Given the description of an element on the screen output the (x, y) to click on. 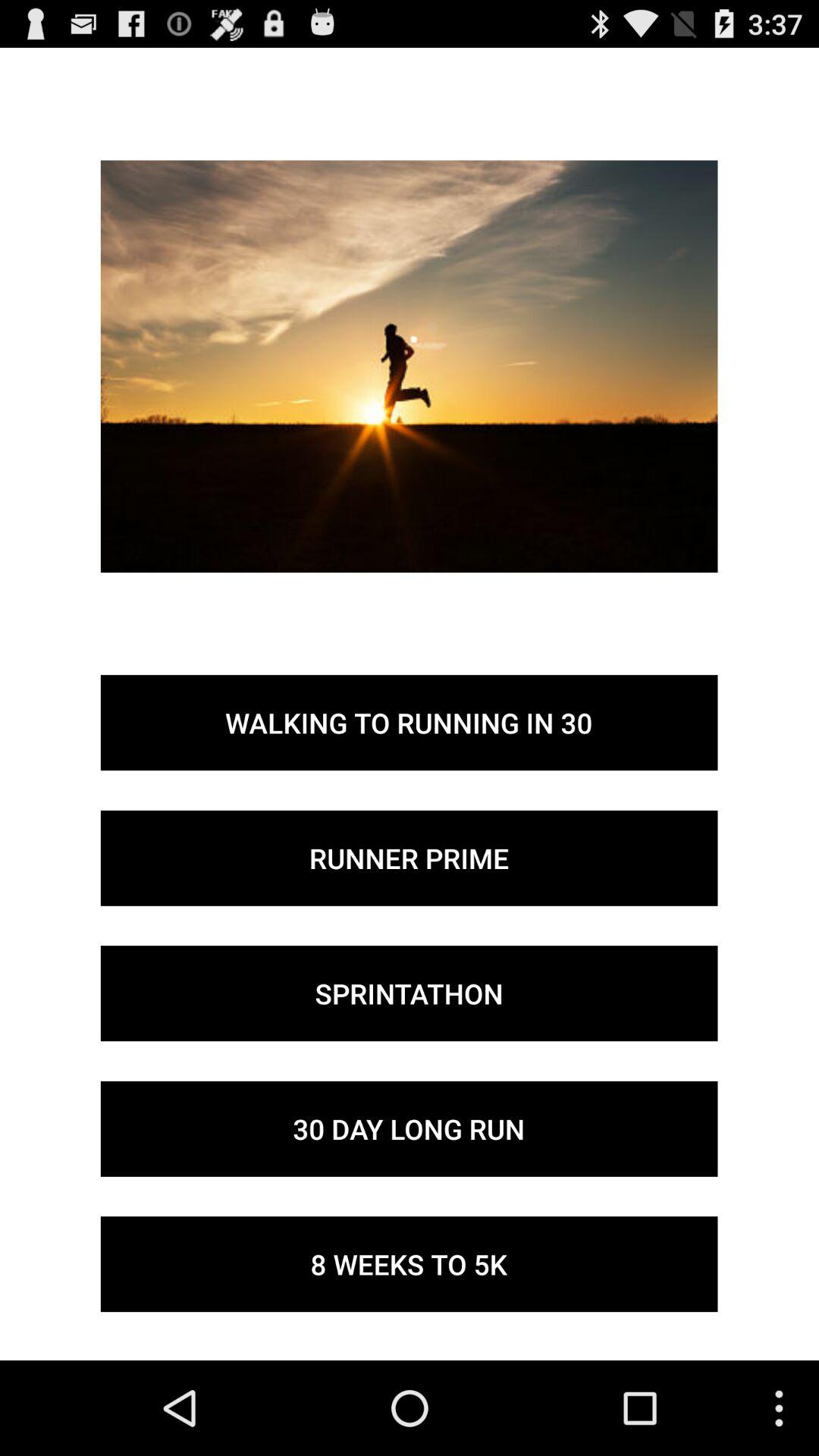
launch the walking to running item (408, 722)
